Given the description of an element on the screen output the (x, y) to click on. 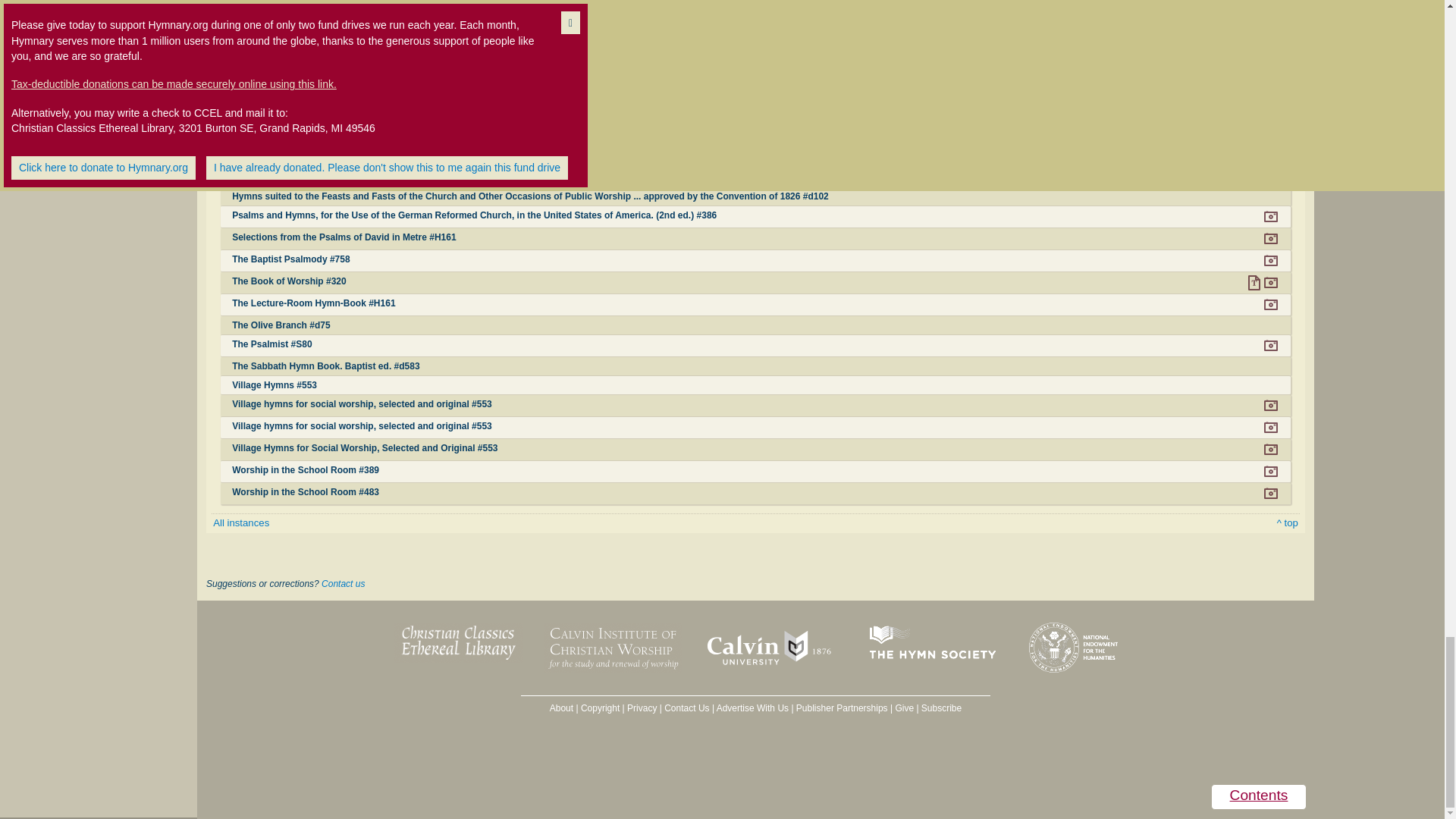
Page Scan (1270, 24)
